Given the description of an element on the screen output the (x, y) to click on. 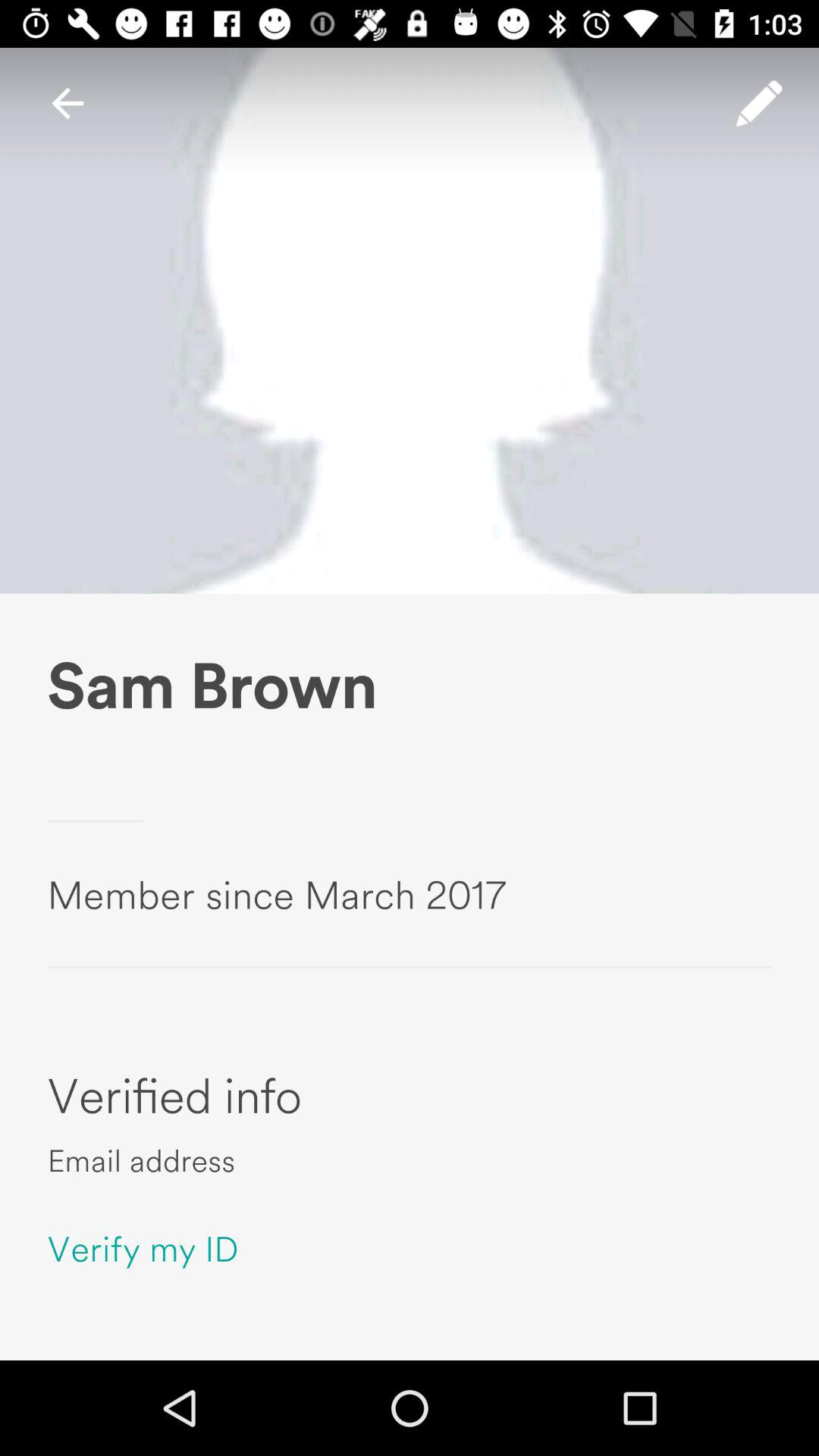
press item at the top left corner (67, 103)
